Given the description of an element on the screen output the (x, y) to click on. 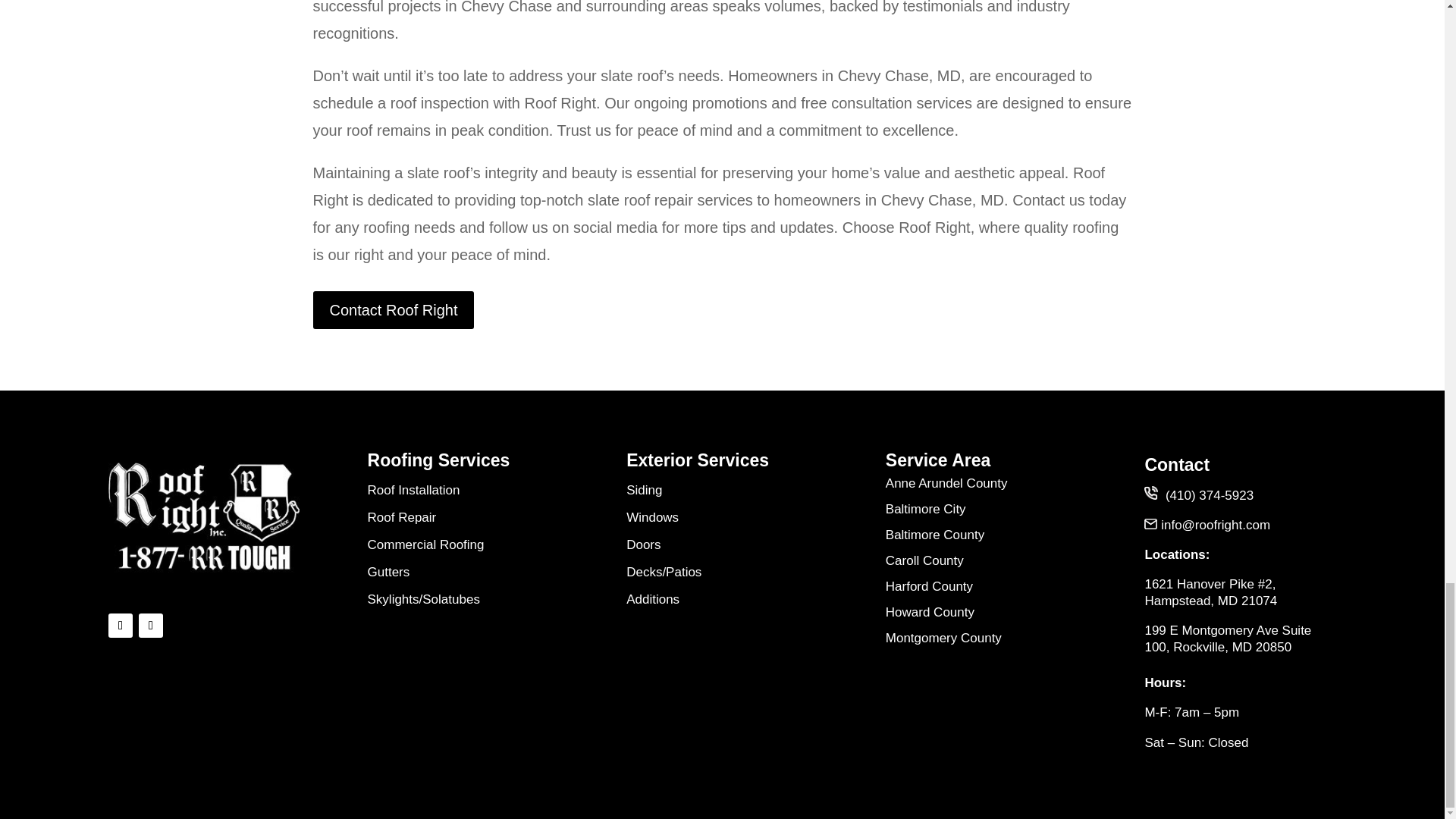
Follow on Instagram (150, 625)
Follow on Facebook (119, 625)
new-logo-2 (203, 515)
